Given the description of an element on the screen output the (x, y) to click on. 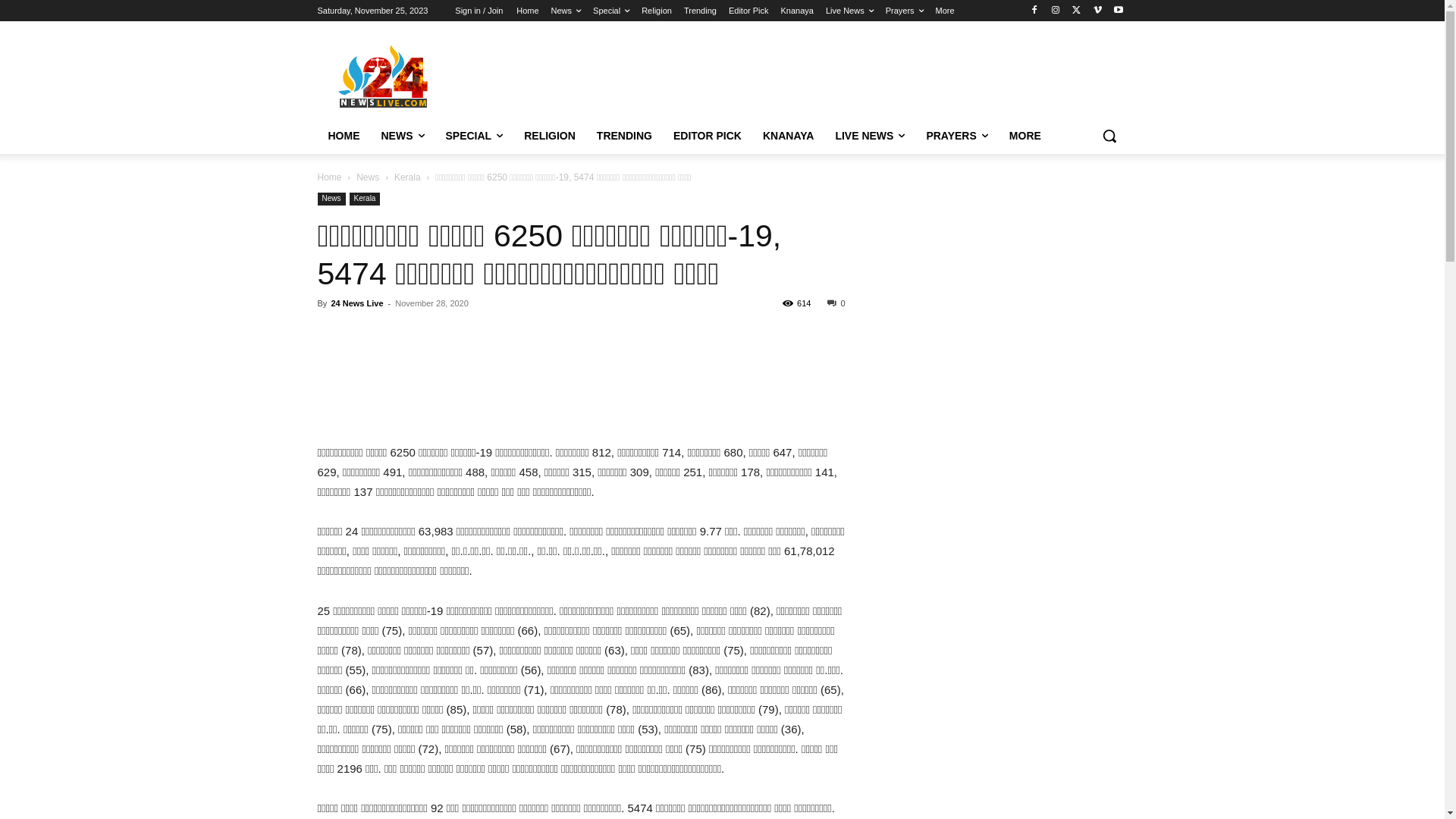
NEWS Element type: text (402, 135)
HOME Element type: text (343, 135)
Trending Element type: text (700, 10)
SPECIAL Element type: text (474, 135)
News Element type: text (330, 198)
Instagram Element type: hover (1054, 9)
0 Element type: text (835, 302)
Editor Pick Element type: text (748, 10)
Religion Element type: text (656, 10)
EDITOR PICK Element type: text (707, 135)
Youtube Element type: hover (1118, 9)
PRAYERS Element type: text (956, 135)
Home Element type: text (328, 177)
Live News Element type: text (849, 10)
KNANAYA Element type: text (788, 135)
Special Element type: text (611, 10)
Sign in / Join Element type: text (478, 10)
Advertisement Element type: hover (580, 403)
Twitter Element type: hover (1076, 9)
Knanaya Element type: text (797, 10)
Kerala Element type: text (407, 177)
RELIGION Element type: text (549, 135)
News Element type: text (566, 10)
Kerala Element type: text (364, 198)
Facebook Element type: hover (1034, 9)
News Element type: text (367, 177)
LIVE NEWS Element type: text (869, 135)
MORE Element type: text (1024, 135)
Vimeo Element type: hover (1097, 9)
TRENDING Element type: text (624, 135)
Prayers Element type: text (904, 10)
Home Element type: text (527, 10)
24 News Live Element type: text (356, 302)
More Element type: text (944, 10)
